Given the description of an element on the screen output the (x, y) to click on. 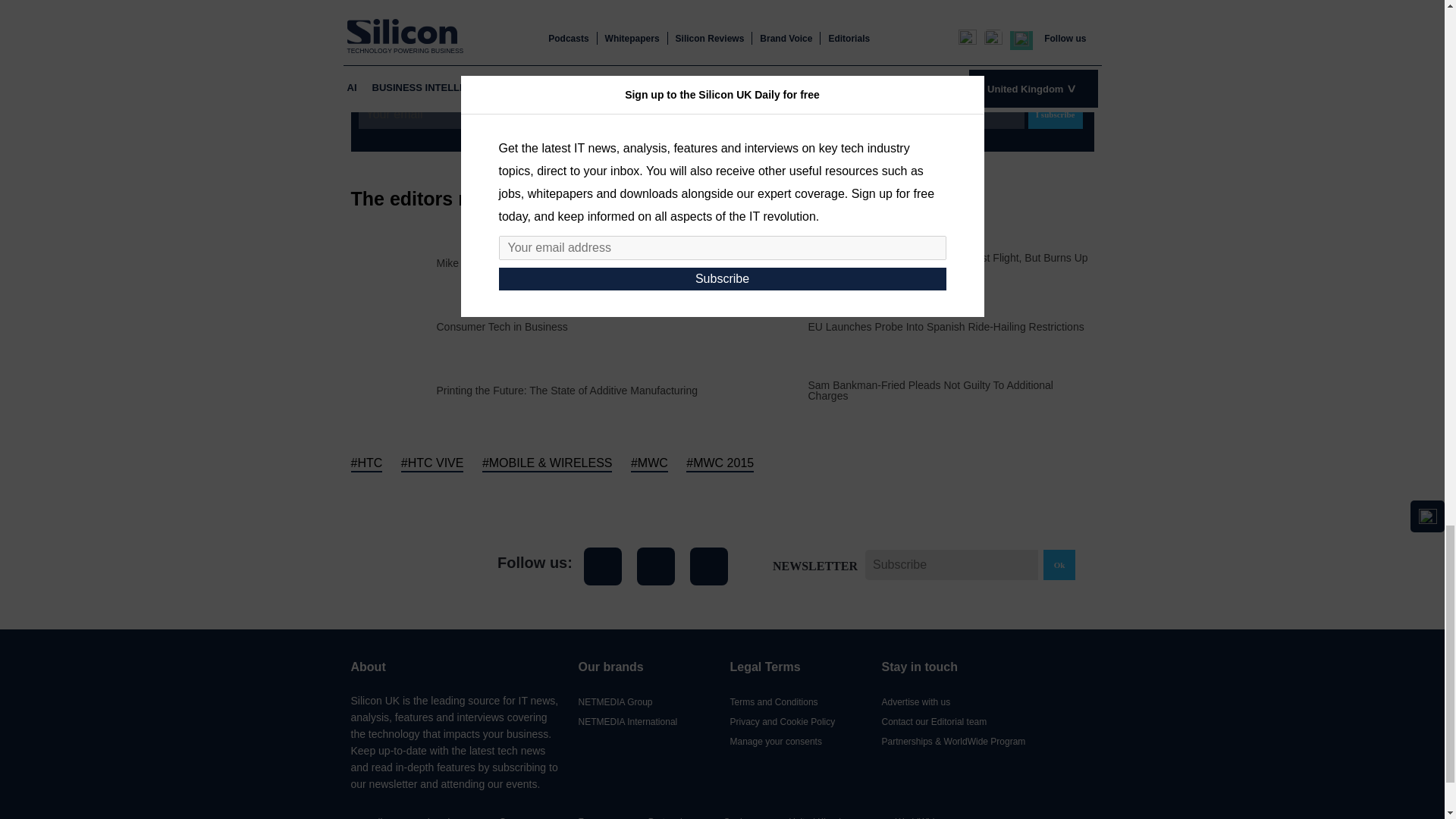
Consumer Tech in Business (501, 326)
Mike Lynch, Five Others Missing After Yacht Sinks Off Sicily (576, 262)
EU Launches Probe Into Spanish Ride-Hailing Restrictions (946, 326)
Printing the Future: The State of Additive Manufacturing (567, 389)
Sam Bankman-Fried Pleads Not Guilty To Additional Charges (951, 389)
